Given the description of an element on the screen output the (x, y) to click on. 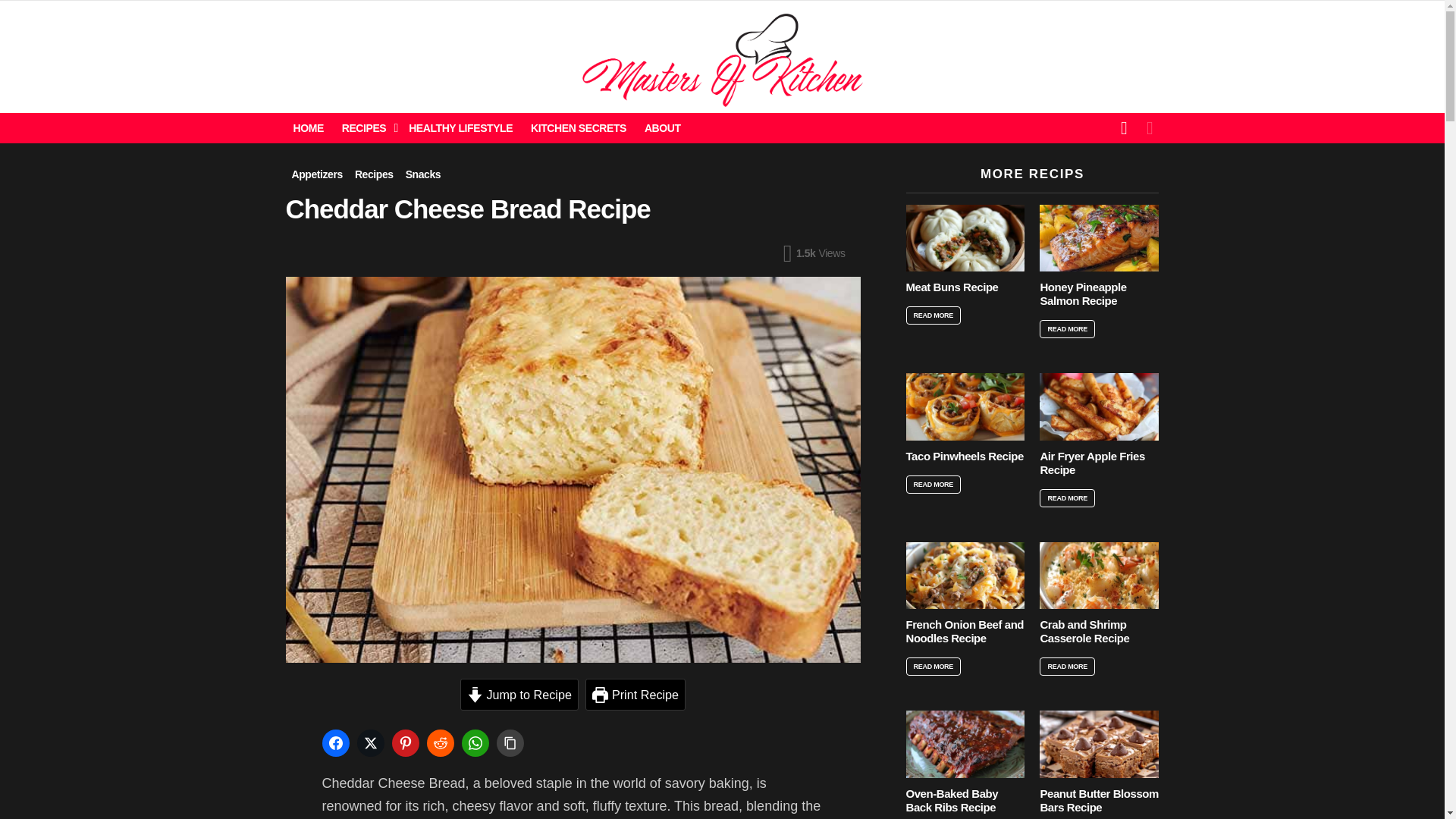
HEALTHY LIFESTYLE (460, 128)
Share on Pinterest (406, 742)
Print Recipe (635, 694)
KITCHEN SECRETS (577, 128)
Share on WhatsApp (476, 742)
Snacks (422, 174)
RECIPES (366, 128)
Share on Twitter (371, 742)
Appetizers (316, 174)
Oven-Baked Baby Back Ribs Recipe (965, 743)
Jump to Recipe (519, 694)
ABOUT (662, 128)
Air Fryer Apple Fries Recipe (1098, 406)
